Given the description of an element on the screen output the (x, y) to click on. 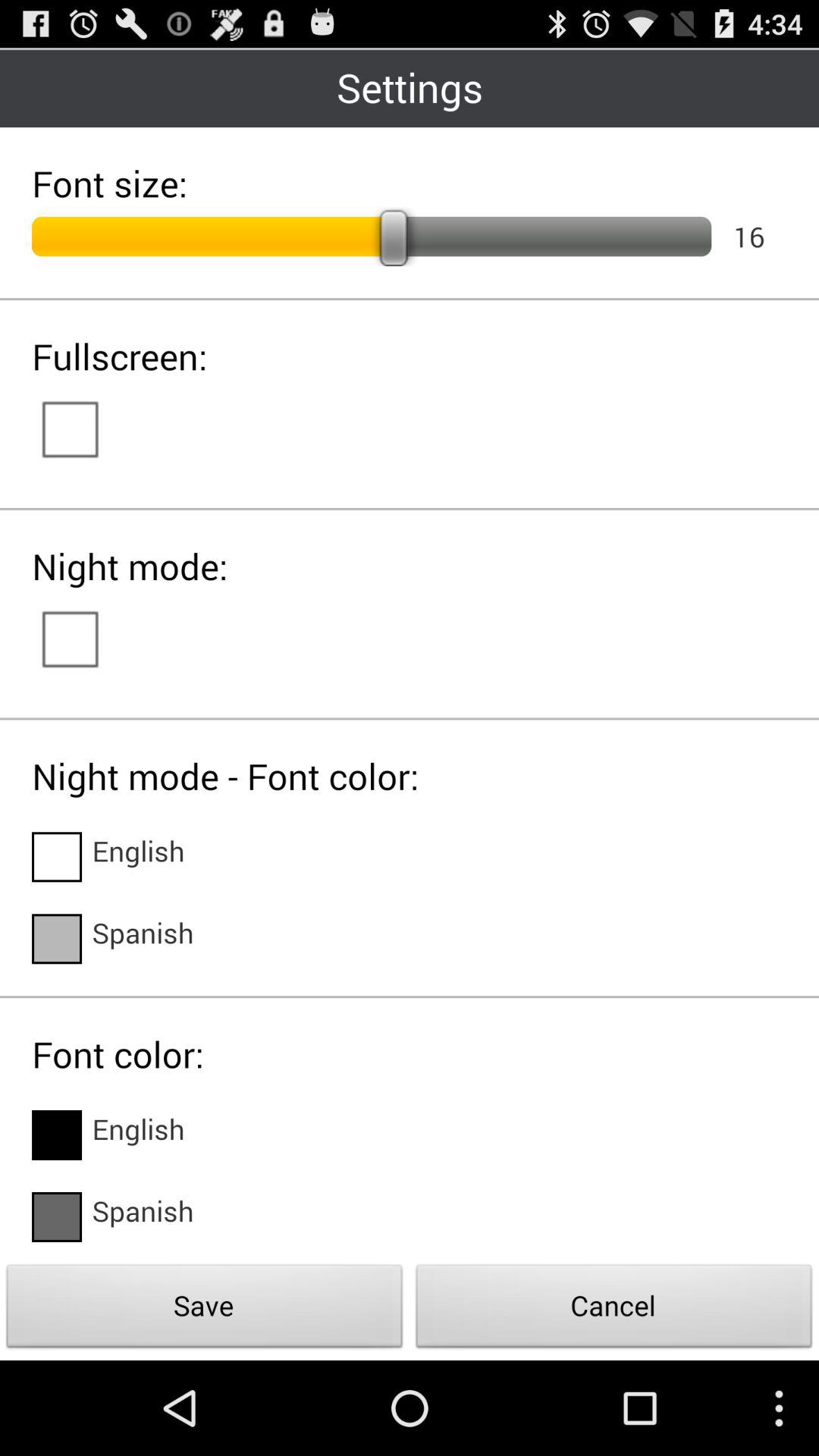
select language (56, 1135)
